Given the description of an element on the screen output the (x, y) to click on. 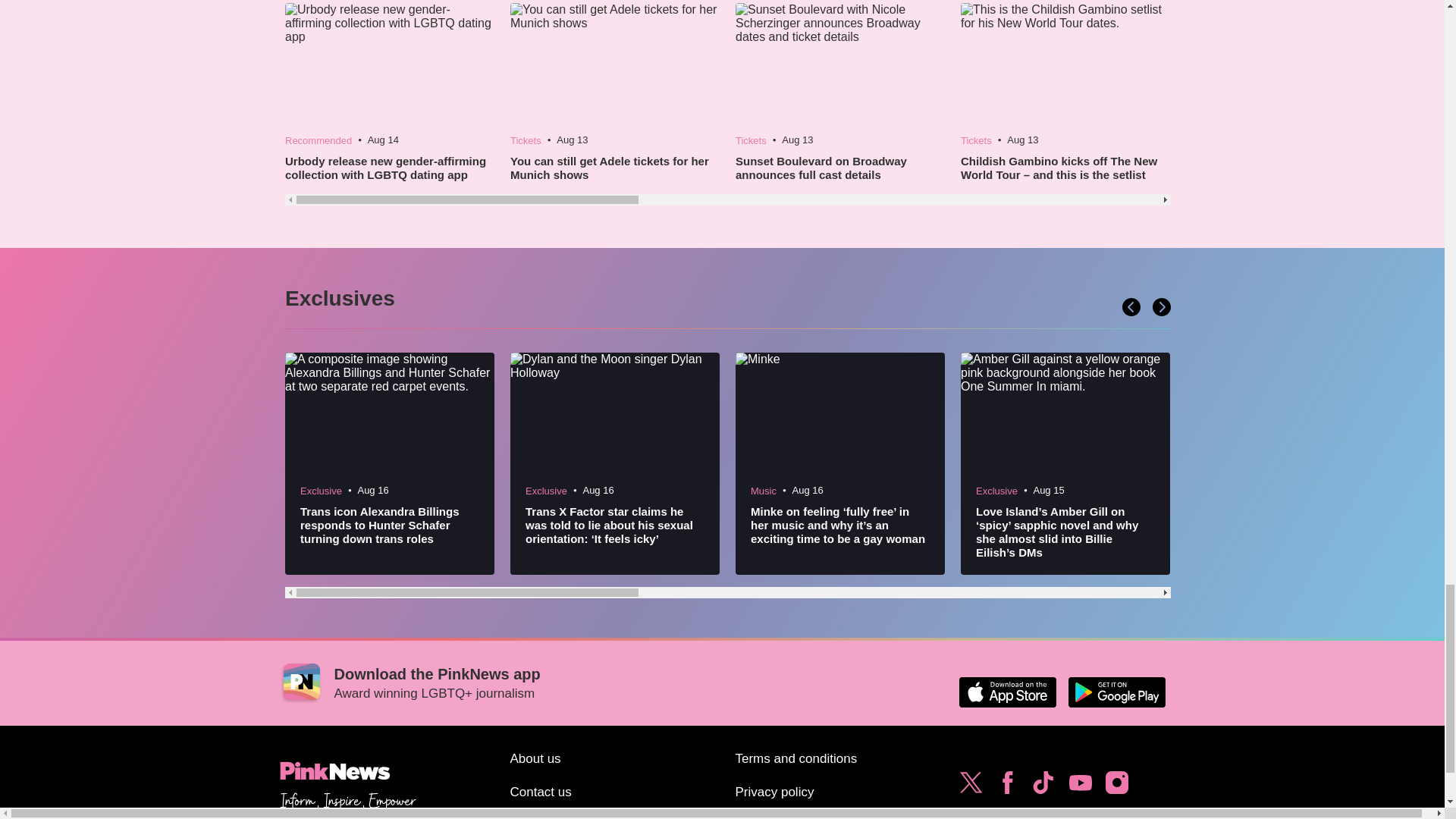
Subscribe to PinkNews on Snapchat (970, 811)
Follow PinkNews on TikTok (1042, 786)
Download the PinkNews app on Google Play (1115, 692)
Follow PinkNews on LinkedIn (1007, 811)
Follow PinkNews on Instagram (1116, 786)
Download the PinkNews app on the Apple App Store (1006, 692)
Subscribe to PinkNews on YouTube (1079, 786)
Follow PinkNews on Twitter (970, 786)
